Given the description of an element on the screen output the (x, y) to click on. 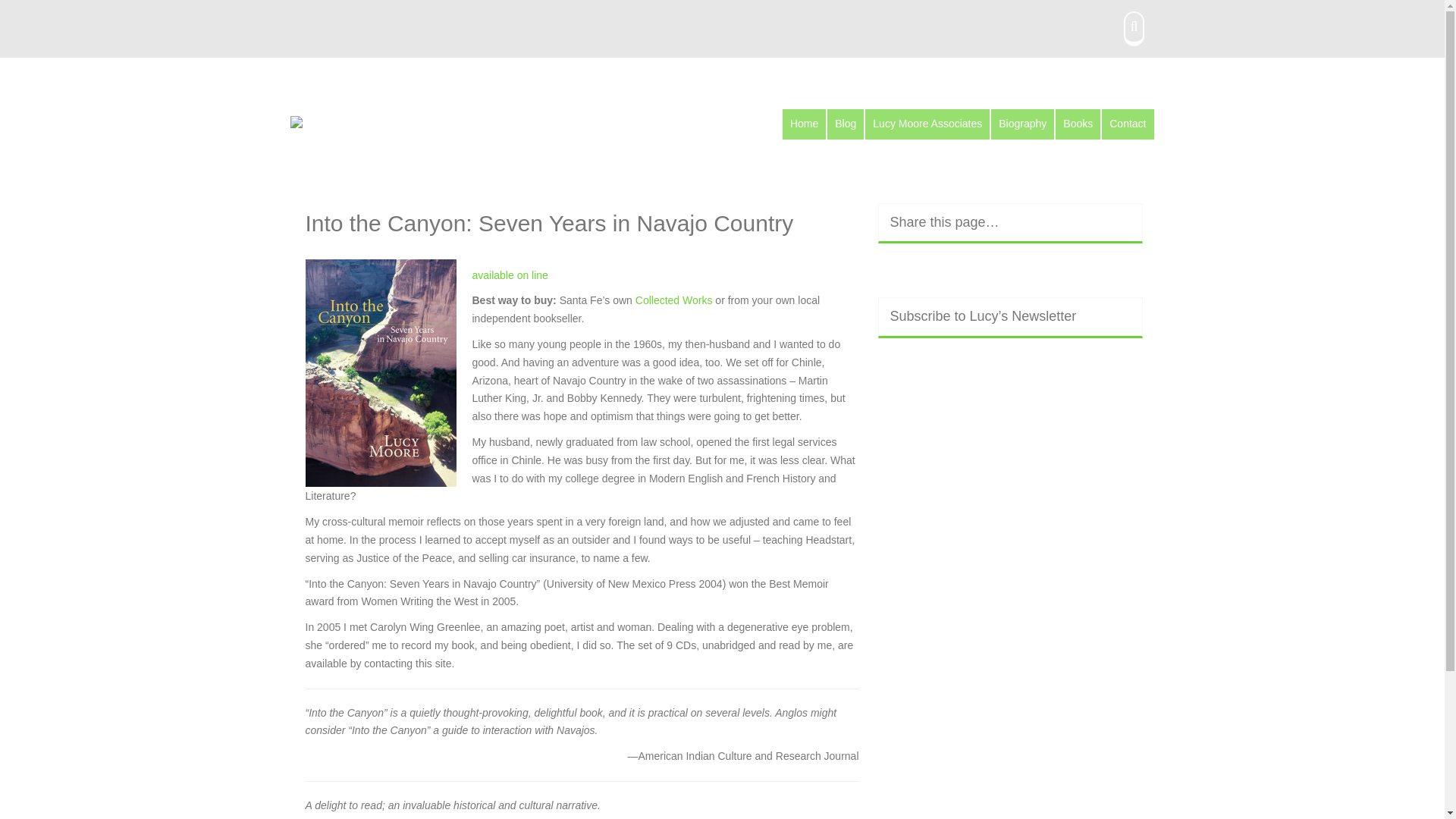
Buy this book from Amazon (509, 275)
Contact (1127, 123)
Home (804, 123)
Blog (845, 123)
Biography (1022, 123)
Books (1077, 123)
available on line (509, 275)
Collected Works (675, 300)
Lucy Moore Associates (927, 123)
